Given the description of an element on the screen output the (x, y) to click on. 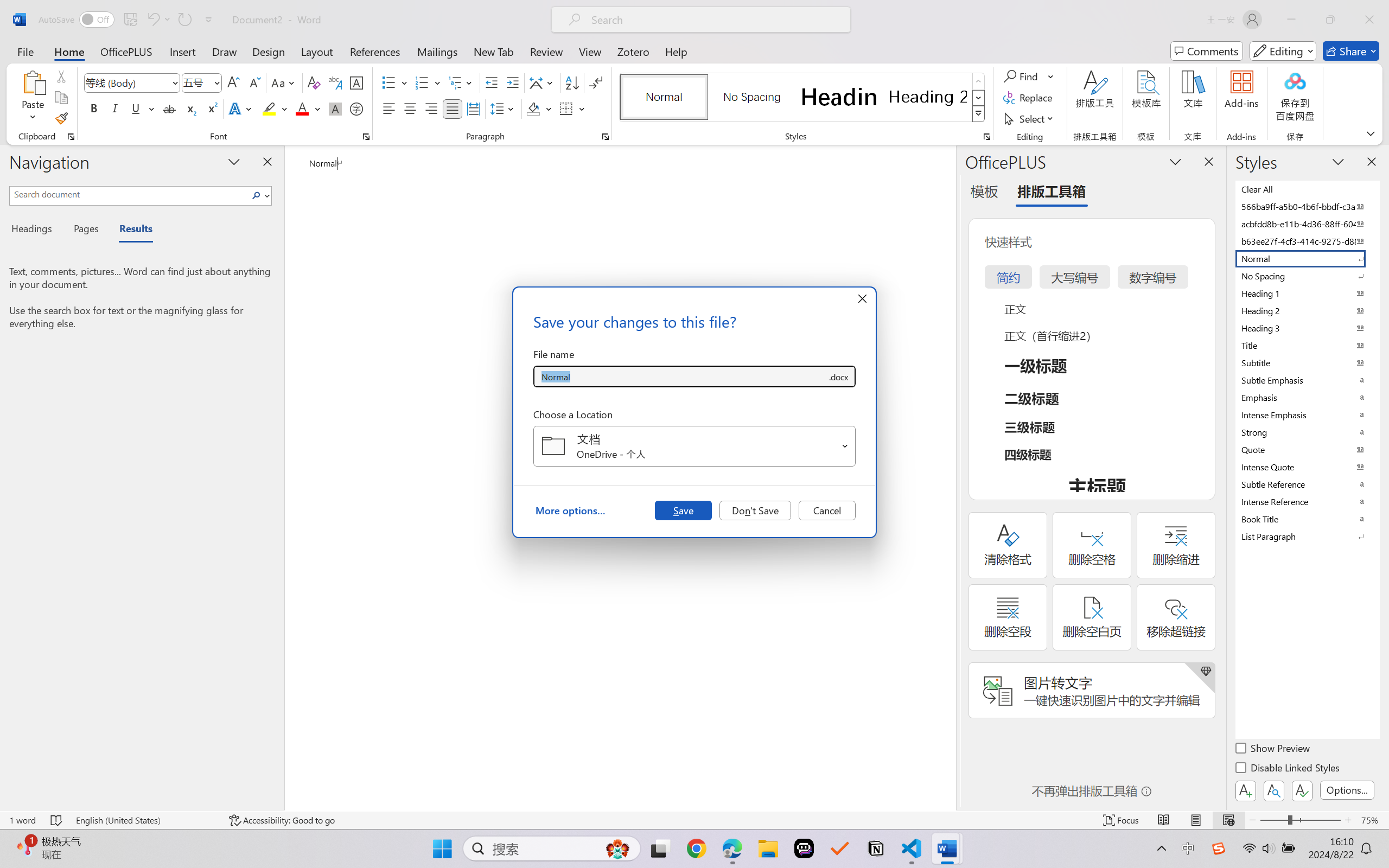
566ba9ff-a5b0-4b6f-bbdf-c3ab41993fc2 (1306, 206)
Office Clipboard... (70, 136)
Comments (1206, 50)
Clear Formatting (313, 82)
Headings (35, 229)
Shading (539, 108)
Shading RGB(0, 0, 0) (533, 108)
OfficePLUS (126, 51)
Open (844, 446)
